Given the description of an element on the screen output the (x, y) to click on. 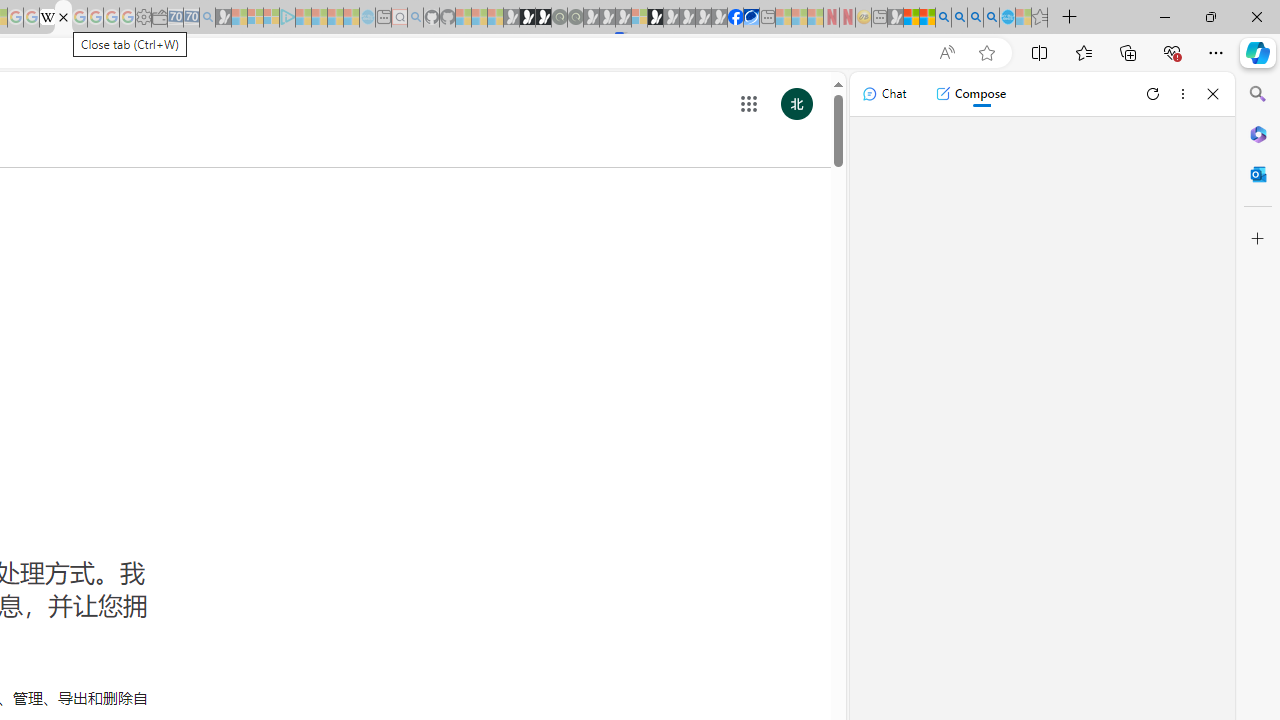
Play Zoo Boom in your browser | Games from Microsoft Start (527, 17)
Favorites - Sleeping (1039, 17)
Compose (970, 93)
2009 Bing officially replaced Live Search on June 3 - Search (959, 17)
Nordace | Facebook (735, 17)
Future Focus Report 2024 - Sleeping (575, 17)
